Given the description of an element on the screen output the (x, y) to click on. 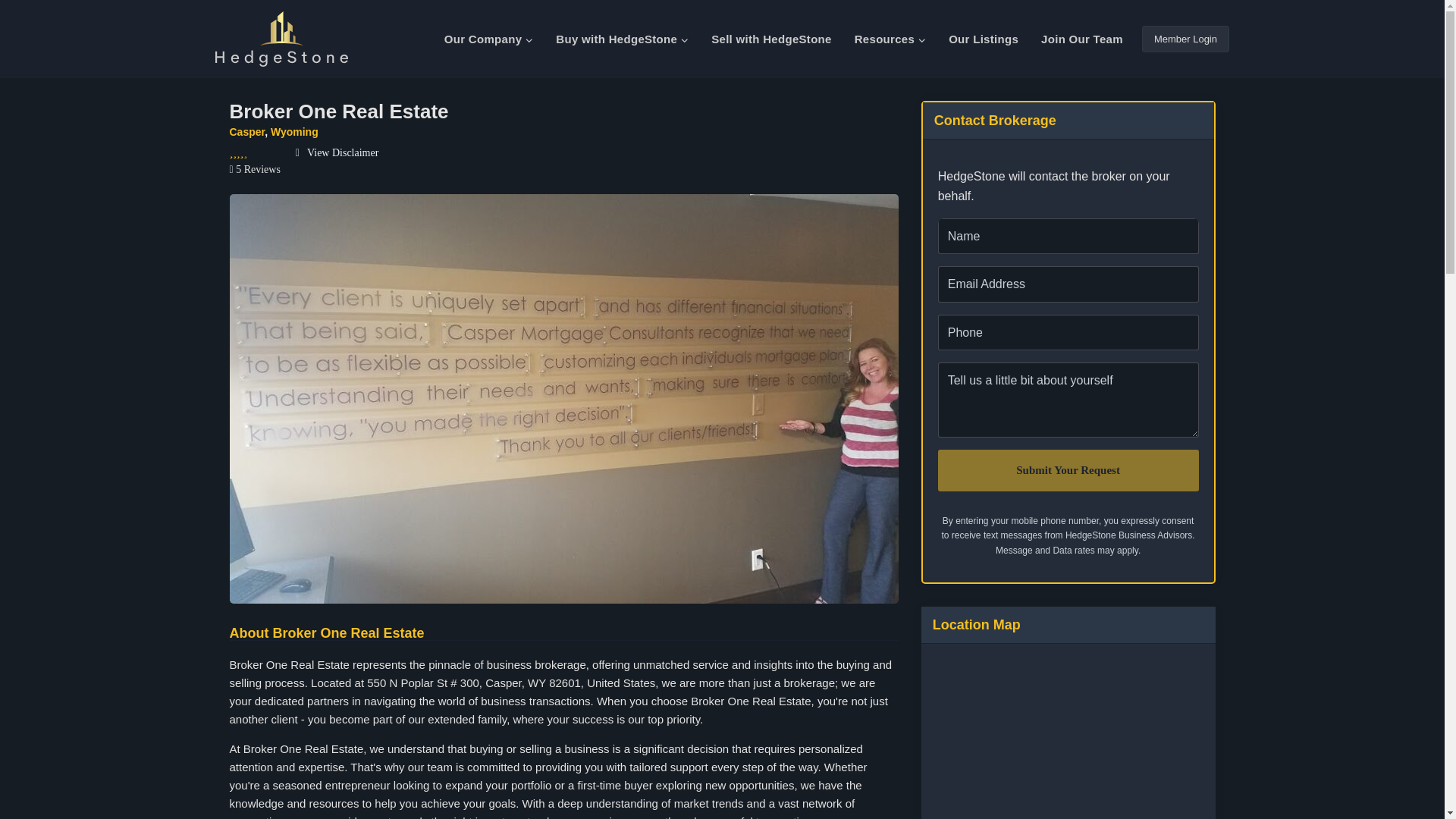
Resources (890, 38)
Our Listings (983, 38)
Buy with HedgeStone (622, 38)
Wyoming (294, 132)
Join Our Team (1081, 38)
Sell with HedgeStone (771, 38)
Submit Your Request (1067, 470)
View Disclaimer (336, 152)
Member Login (1184, 38)
Our Company (488, 38)
Casper (246, 132)
